Given the description of an element on the screen output the (x, y) to click on. 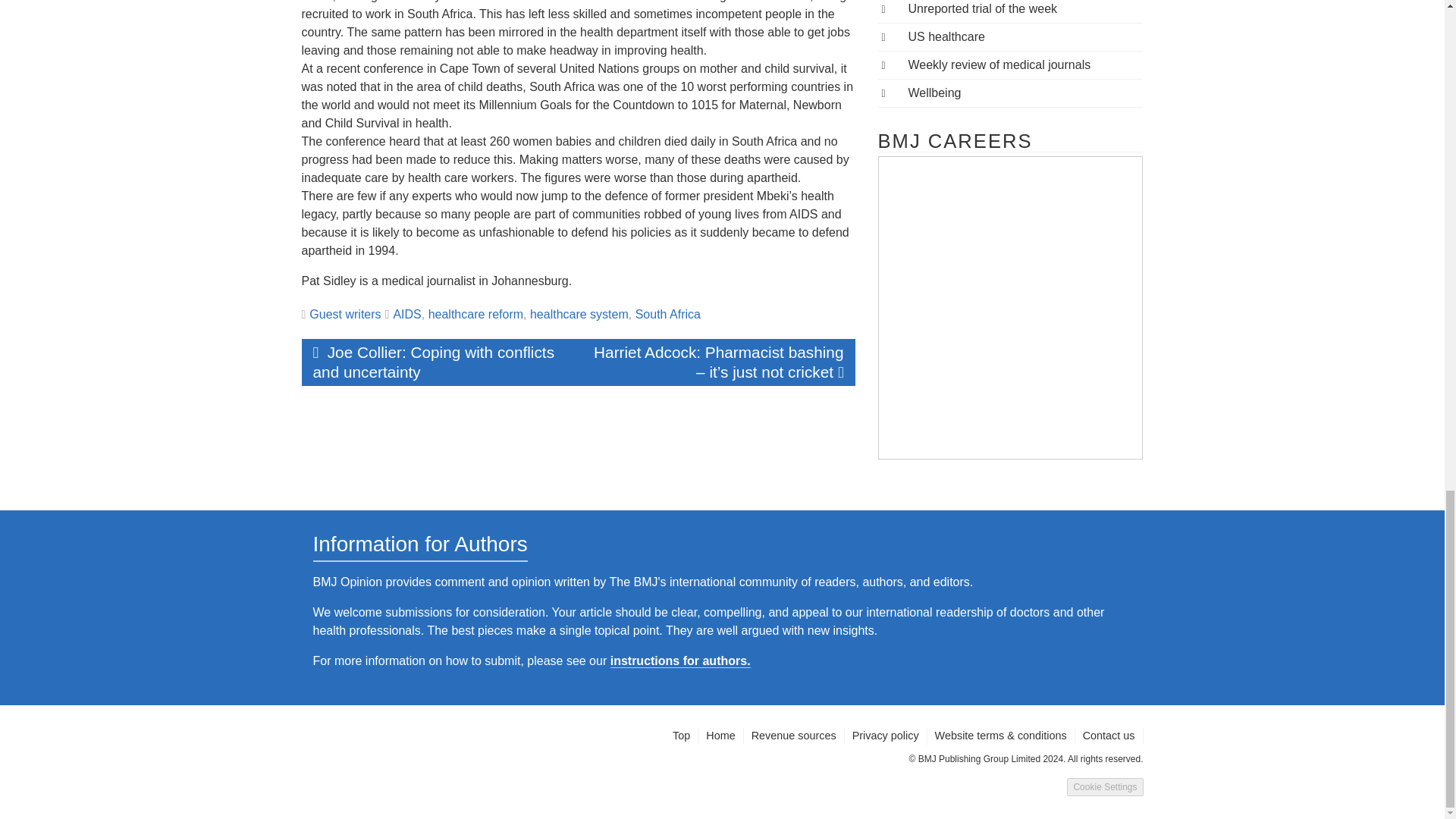
Guest writers (344, 314)
AIDS (406, 314)
 Joe Collier: Coping with conflicts and uncertainty (439, 362)
healthcare reform (475, 314)
South Africa (667, 314)
Home page (720, 736)
healthcare system (578, 314)
